Given the description of an element on the screen output the (x, y) to click on. 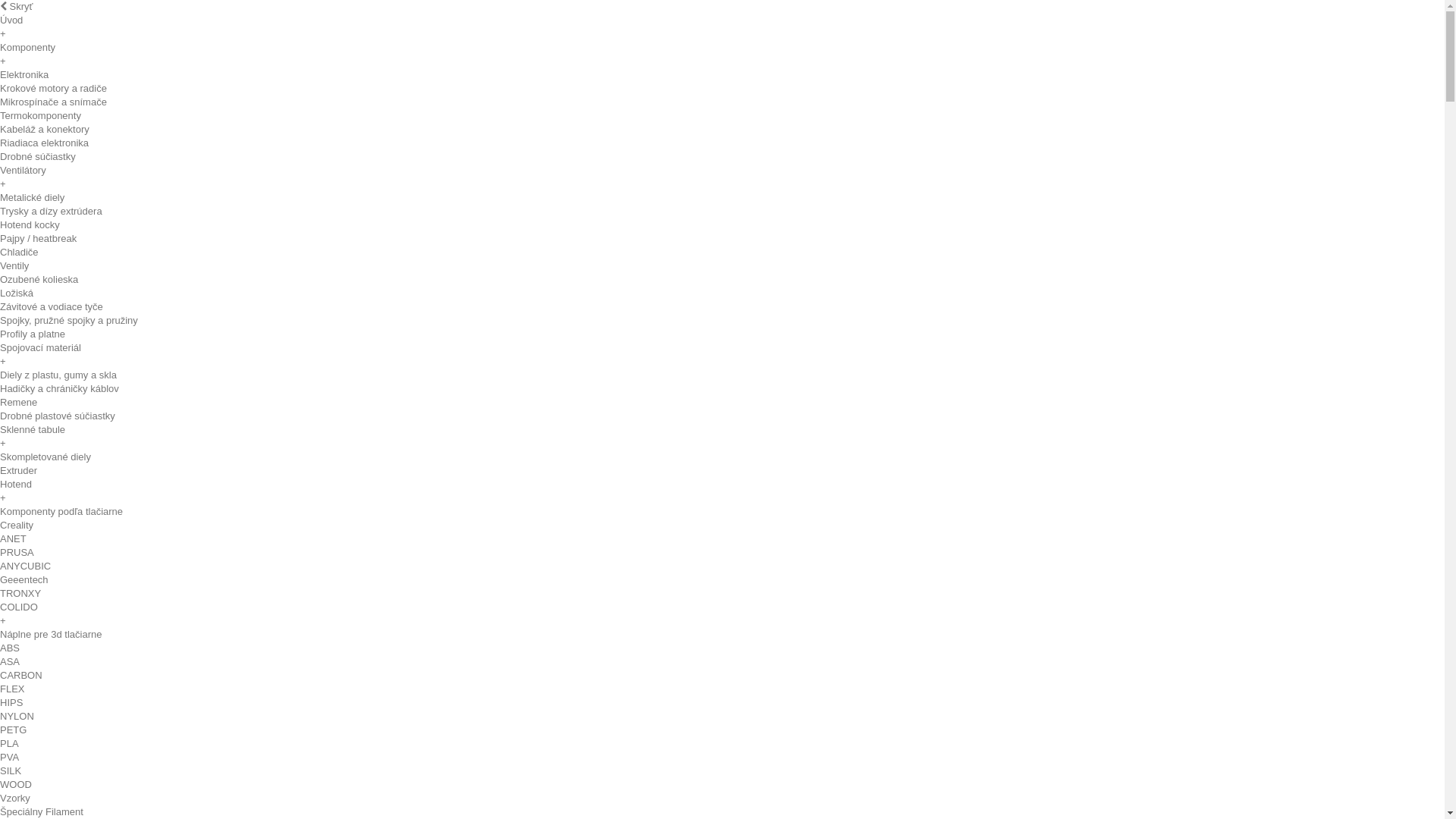
Geeentech Element type: text (24, 579)
PRUSA Element type: text (17, 552)
Pajpy / heatbreak Element type: text (38, 238)
Komponenty Element type: text (27, 47)
Hotend Element type: text (15, 483)
ANET Element type: text (13, 538)
PVA Element type: text (9, 756)
HIPS Element type: text (11, 702)
ANYCUBIC Element type: text (25, 565)
Creality Element type: text (16, 524)
ASA Element type: text (9, 661)
ABS Element type: text (9, 647)
WOOD Element type: text (15, 784)
FLEX Element type: text (12, 688)
Diely z plastu, gumy a skla Element type: text (58, 374)
Extruder Element type: text (18, 470)
Termokomponenty Element type: text (40, 115)
PETG Element type: text (13, 729)
Vzorky Element type: text (15, 797)
PLA Element type: text (9, 743)
NYLON Element type: text (17, 715)
Elektronika Element type: text (24, 74)
Riadiaca elektronika Element type: text (44, 142)
COLIDO Element type: text (18, 606)
TRONXY Element type: text (20, 593)
Hotend kocky Element type: text (29, 224)
Remene Element type: text (18, 401)
Ventily Element type: text (14, 265)
SILK Element type: text (10, 770)
CARBON Element type: text (21, 674)
Profily a platne Element type: text (32, 333)
